Given the description of an element on the screen output the (x, y) to click on. 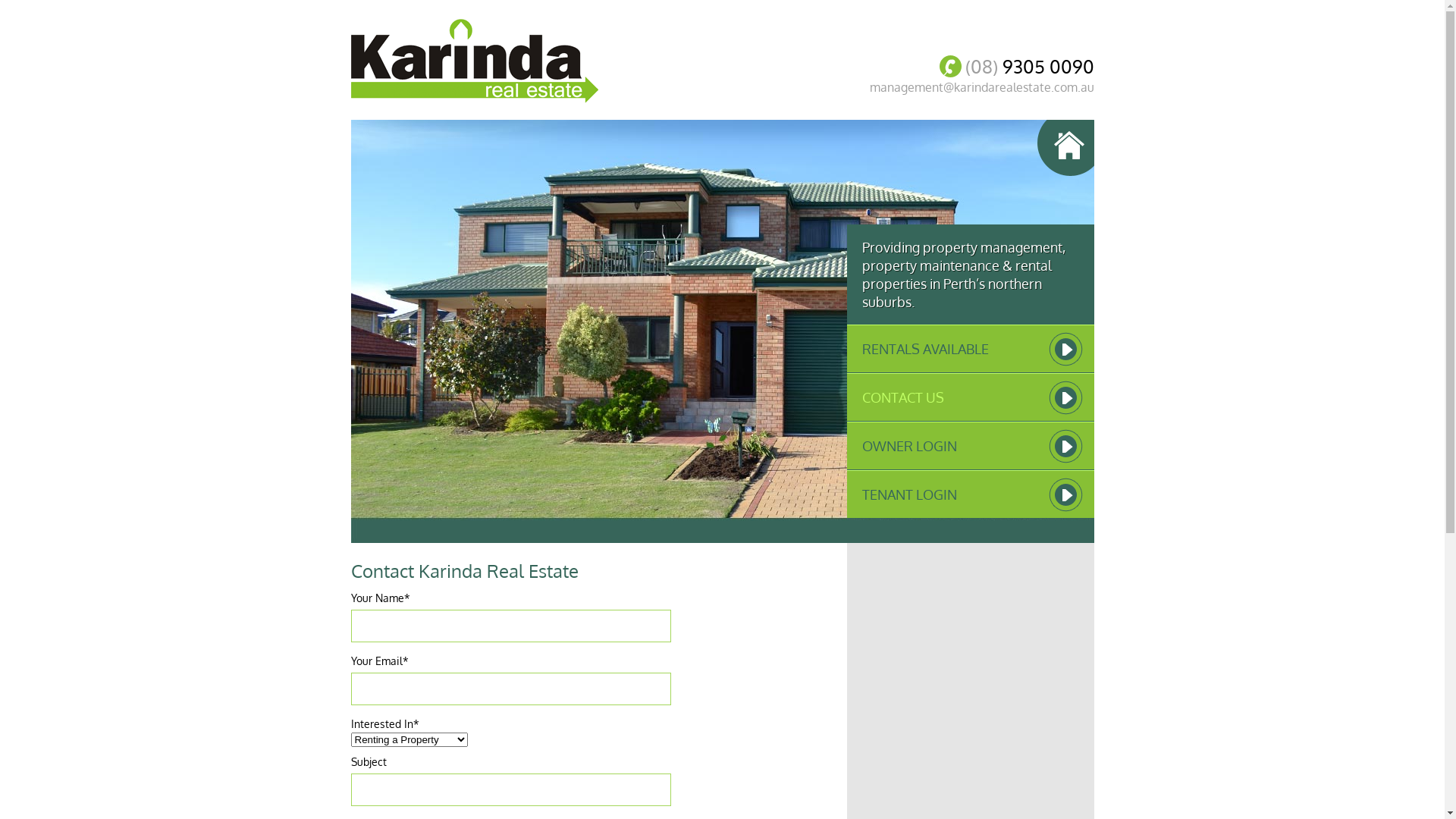
CONTACT US Element type: text (969, 397)
Home Element type: hover (1065, 147)
OWNER LOGIN Element type: text (969, 445)
Call Karinda Real Estate Element type: hover (949, 66)
TENANT LOGIN Element type: text (969, 494)
Contact Karinda Real Estate Element type: text (463, 570)
Karinda Real Estate Perth North Element type: hover (473, 60)
RENTALS AVAILABLE Element type: text (969, 348)
